Given the description of an element on the screen output the (x, y) to click on. 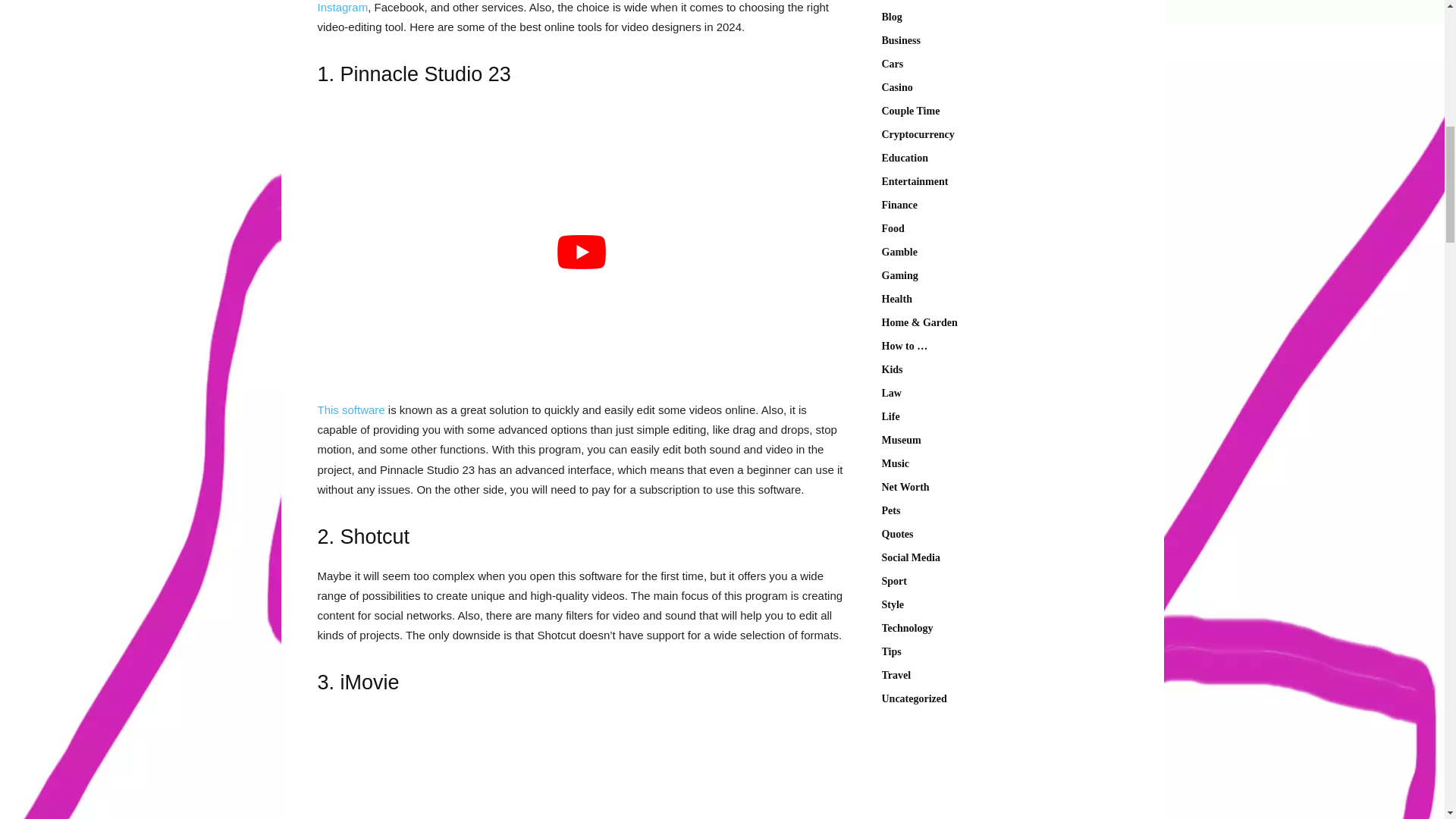
This software (350, 409)
Instagram (342, 6)
